Given the description of an element on the screen output the (x, y) to click on. 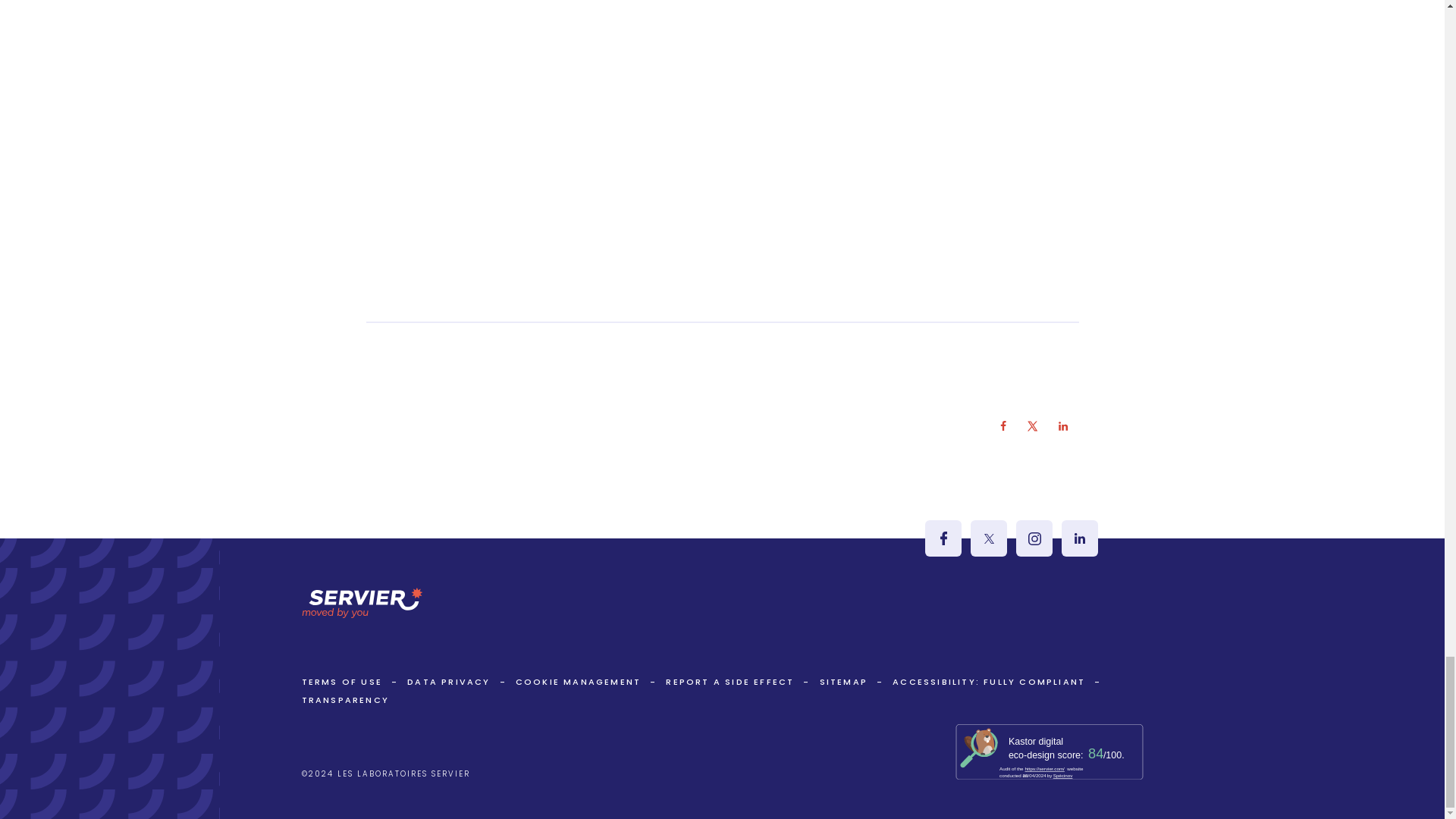
Discover the terms of use to website (341, 681)
Share on X (1032, 426)
Share on LinkedIn (1063, 426)
Share on Facebook (1002, 426)
